Given the description of an element on the screen output the (x, y) to click on. 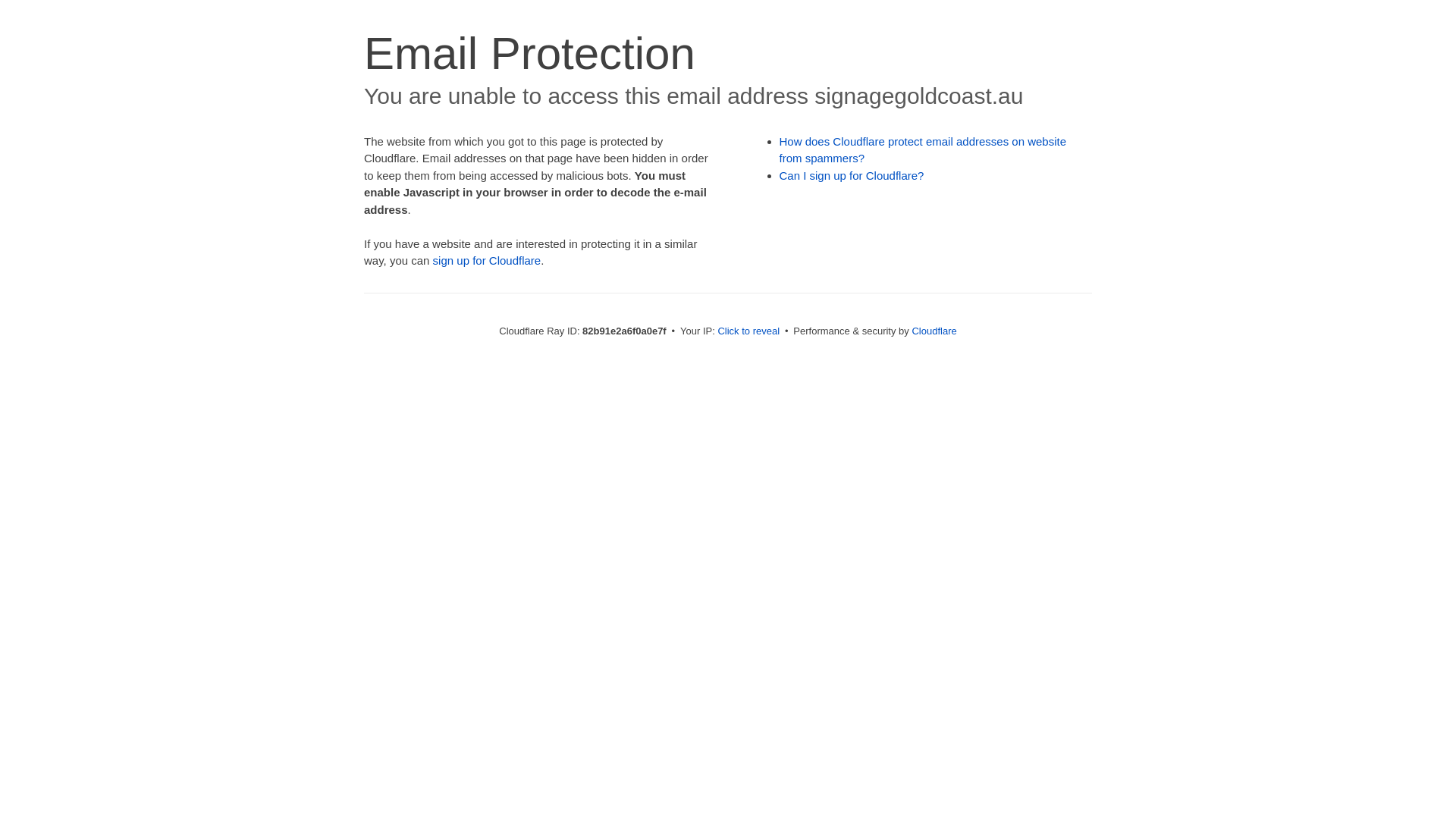
Cloudflare Element type: text (933, 330)
Can I sign up for Cloudflare? Element type: text (851, 175)
sign up for Cloudflare Element type: text (487, 260)
Click to reveal Element type: text (748, 330)
